Given the description of an element on the screen output the (x, y) to click on. 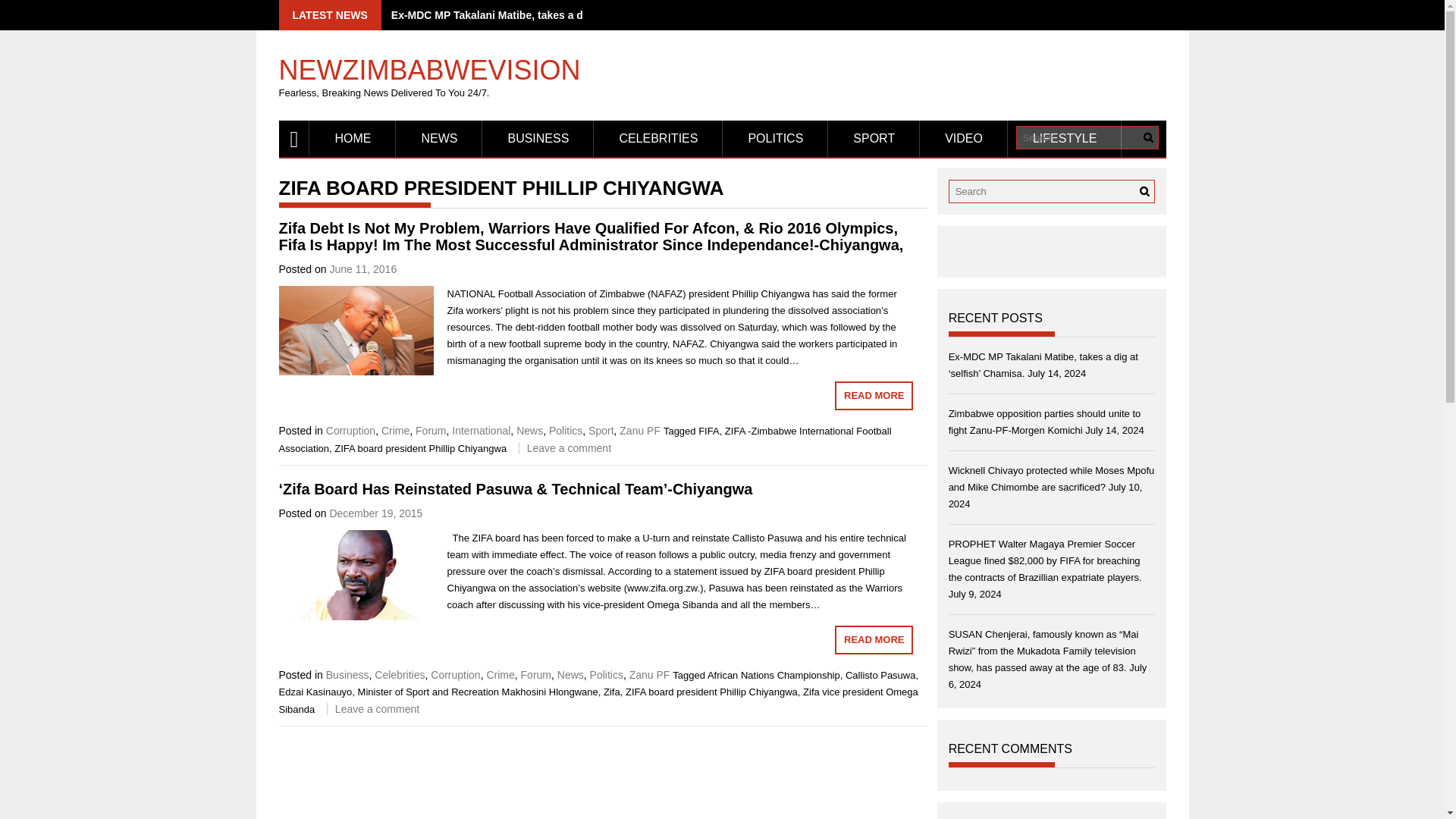
June 11, 2016 (362, 268)
newzimbabwevision (294, 138)
HOME (352, 138)
Search (1147, 137)
NEWZIMBABWEVISION (429, 62)
BUSINESS (537, 138)
LIFESTYLE (1064, 138)
SPORT (874, 138)
CELEBRITIES (658, 138)
NEWS (438, 138)
Search (1143, 191)
Ex-MDC MP Takalani Matibe, takes a dig at 'selfish' Chamisa. (544, 15)
Ex-MDC MP Takalani Matibe, takes a dig at 'selfish' Chamisa. (544, 15)
Search (1147, 137)
